Given the description of an element on the screen output the (x, y) to click on. 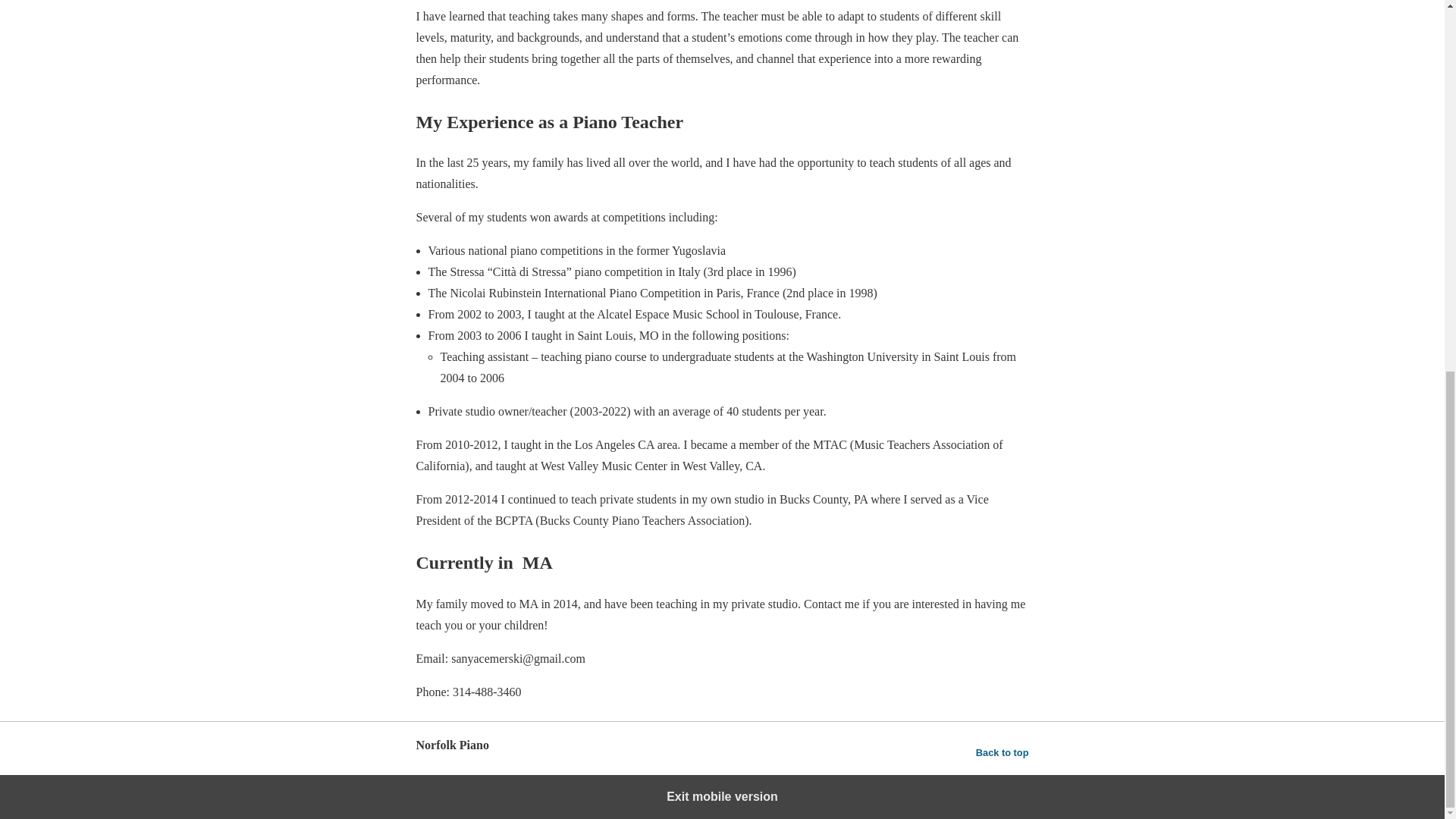
Back to top (1002, 752)
